Given the description of an element on the screen output the (x, y) to click on. 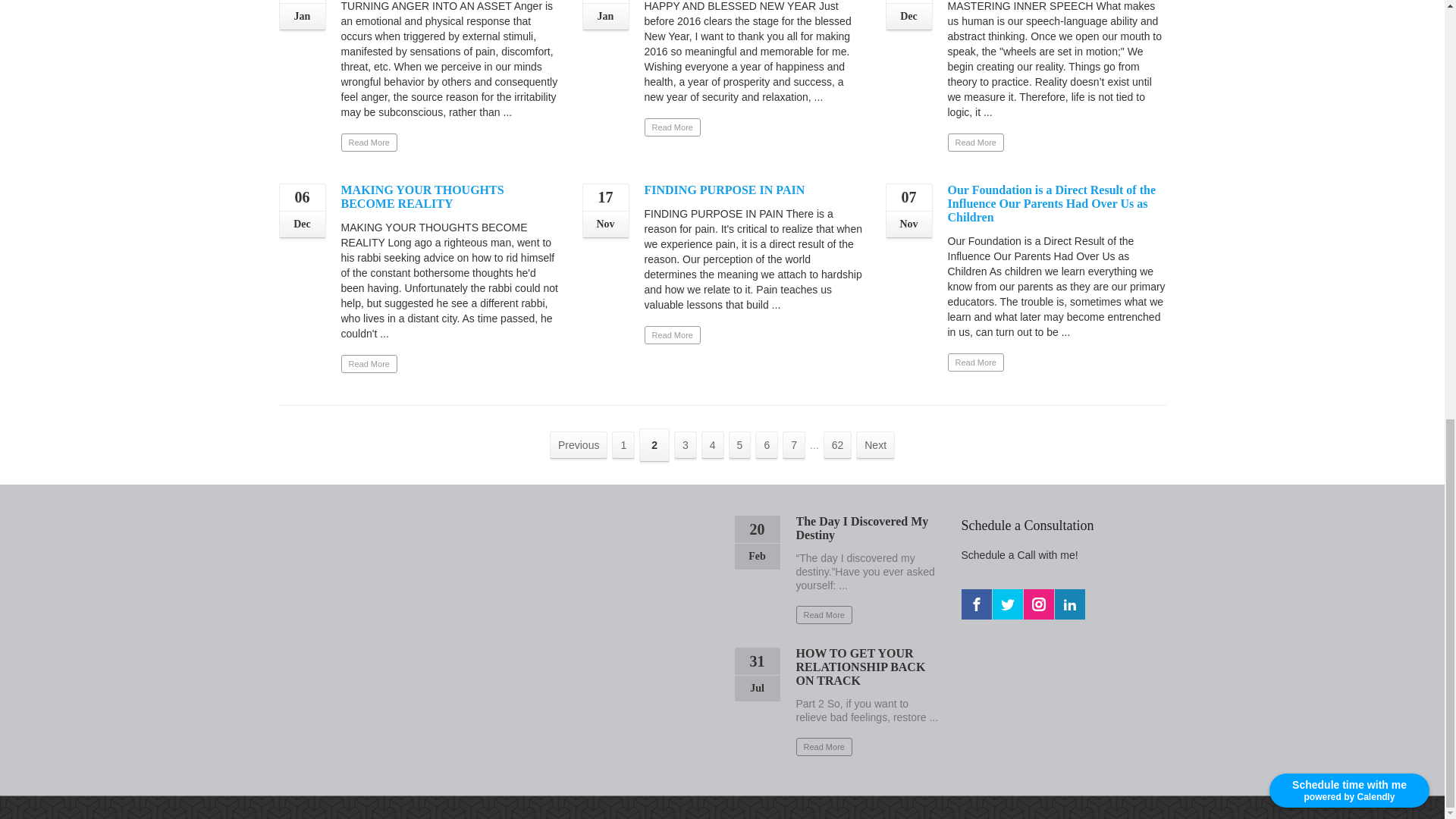
Read More (368, 142)
Read More (368, 363)
MAKING YOUR THOUGHTS BECOME REALITY (421, 196)
Twitter (1006, 603)
Instagram (1038, 603)
Read More (672, 334)
Linkedin (1069, 603)
Read More (975, 142)
Read More (672, 126)
FINDING PURPOSE IN PAIN (725, 189)
Previous (578, 444)
Read More (975, 361)
Facebook (975, 603)
